Given the description of an element on the screen output the (x, y) to click on. 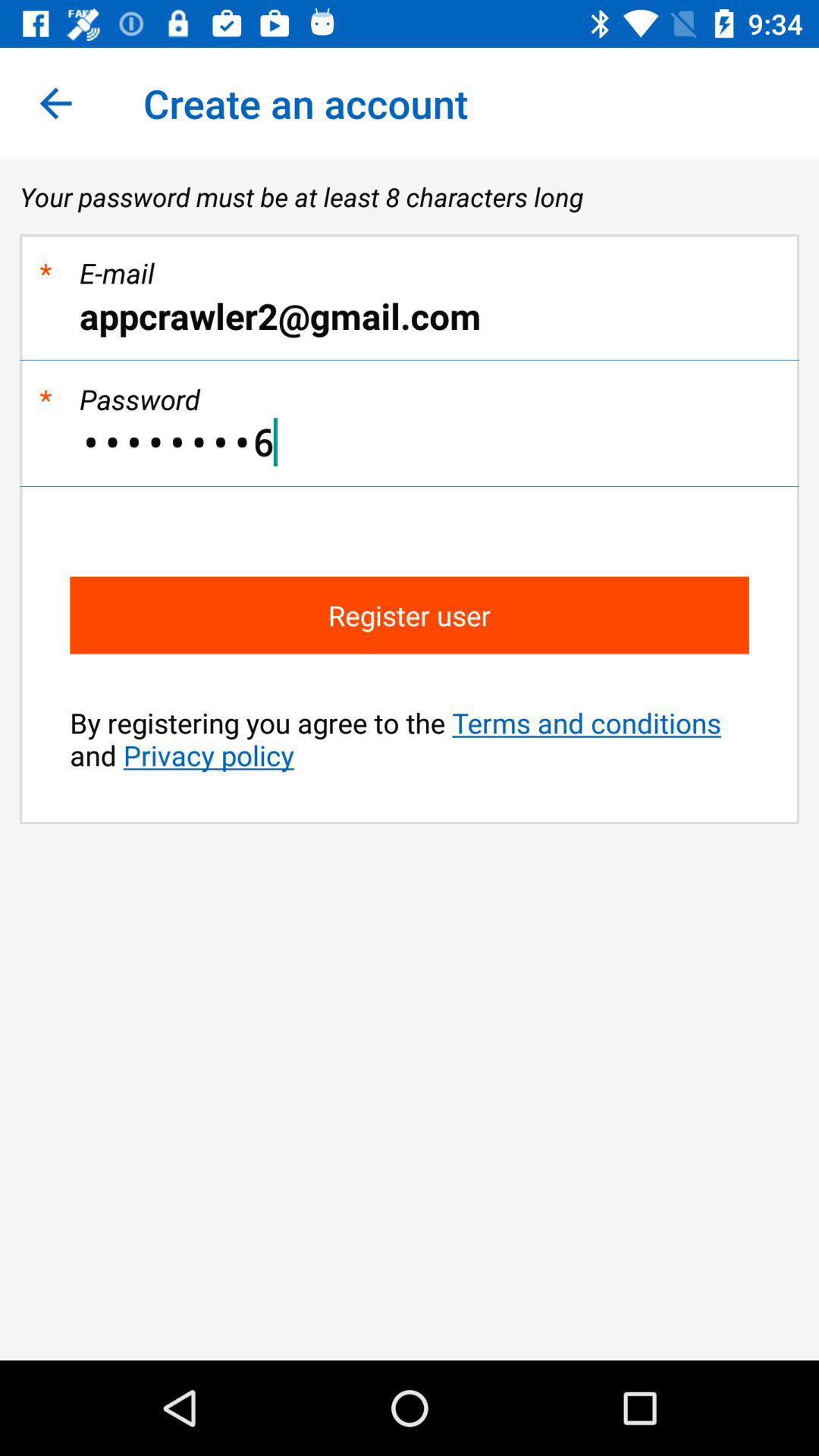
flip until crowd3116 item (409, 442)
